Given the description of an element on the screen output the (x, y) to click on. 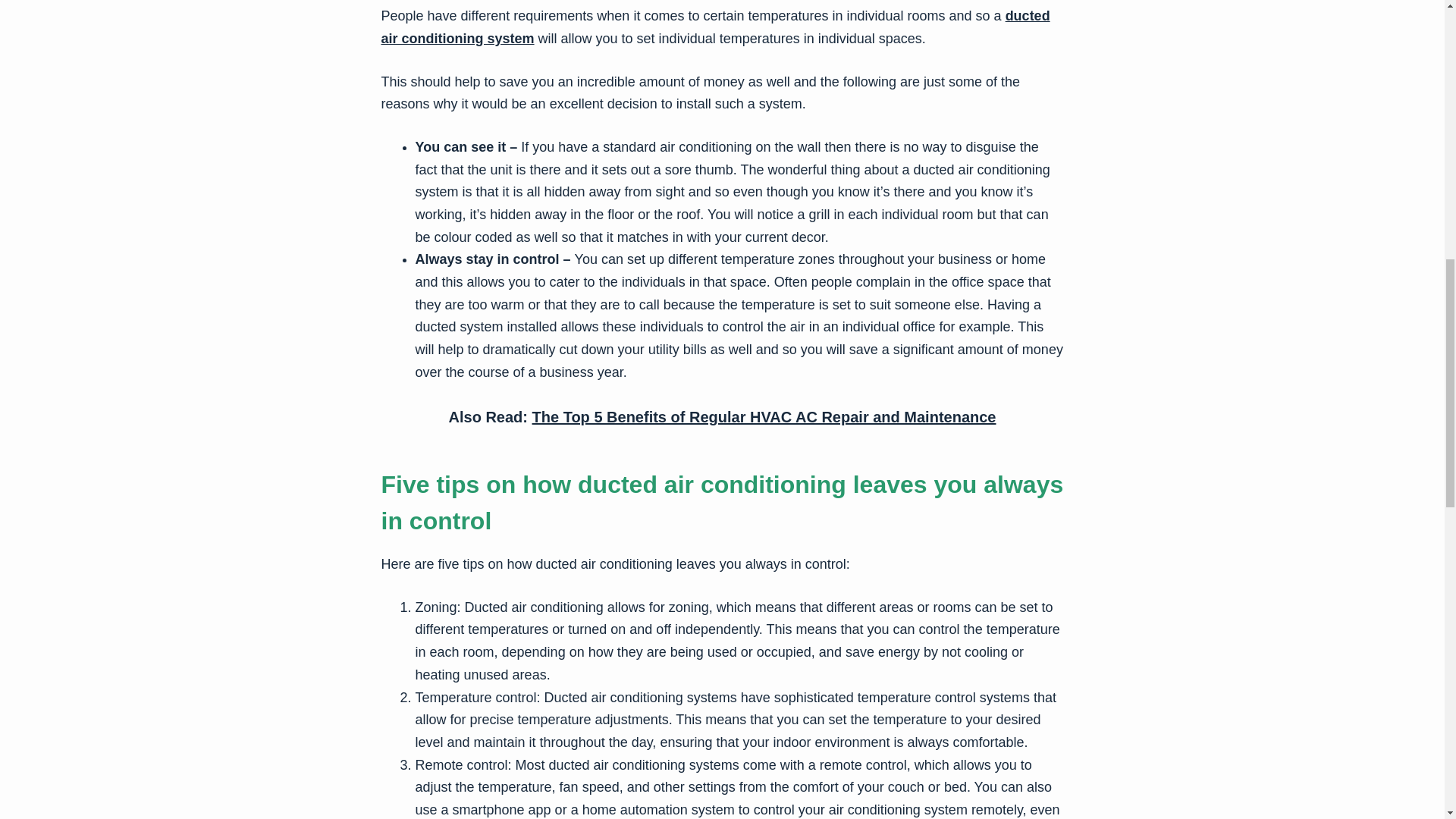
ducted air conditioning system (714, 26)
The Top 5 Benefits of Regular HVAC AC Repair and Maintenance (763, 416)
